Given the description of an element on the screen output the (x, y) to click on. 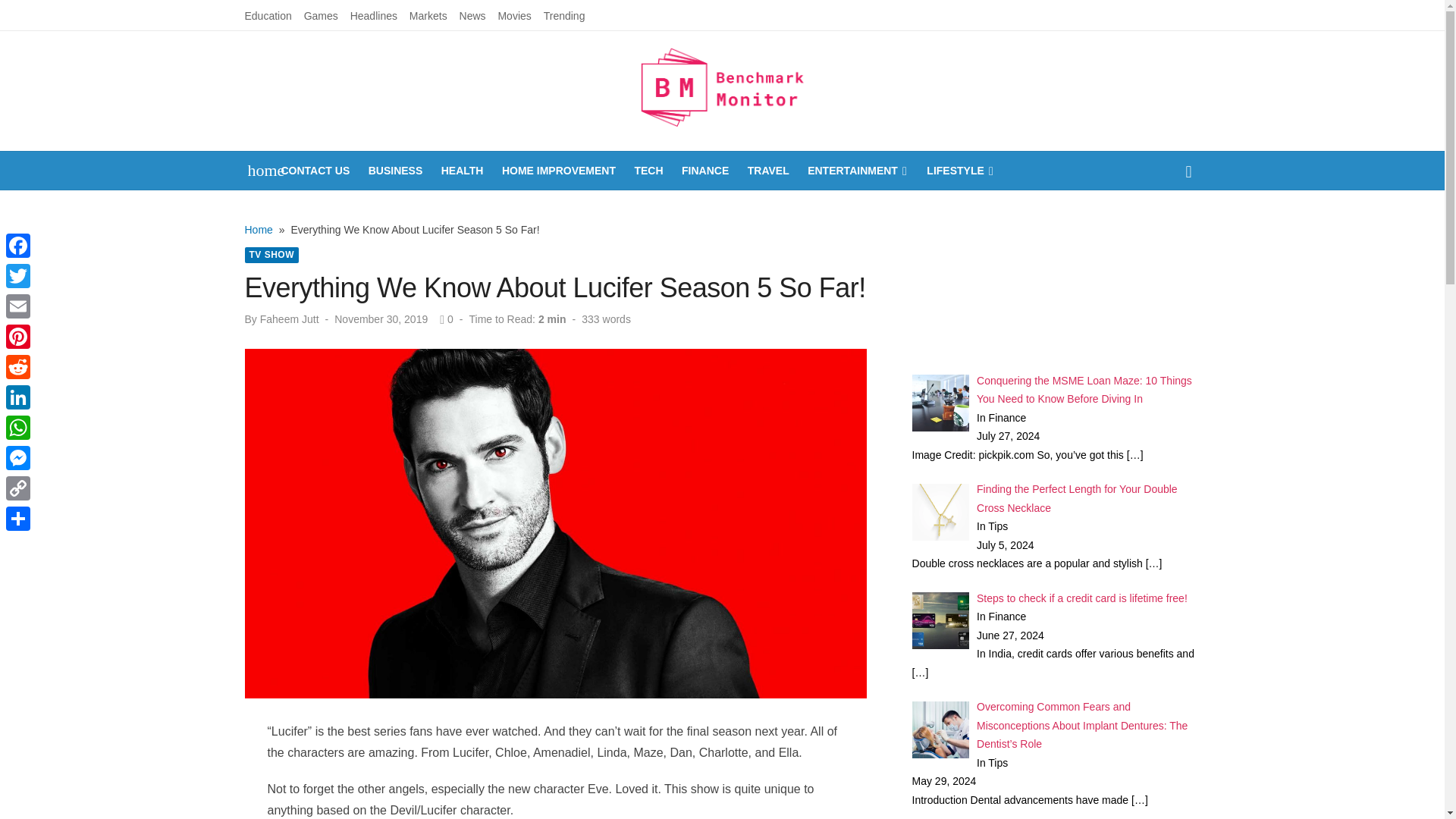
Twitter (17, 276)
HEALTH (462, 170)
Facebook (17, 245)
Email (17, 306)
home (258, 169)
Games (320, 15)
Movies (514, 15)
CONTACT US (315, 170)
ENTERTAINMENT (858, 170)
Trending (564, 15)
